Given the description of an element on the screen output the (x, y) to click on. 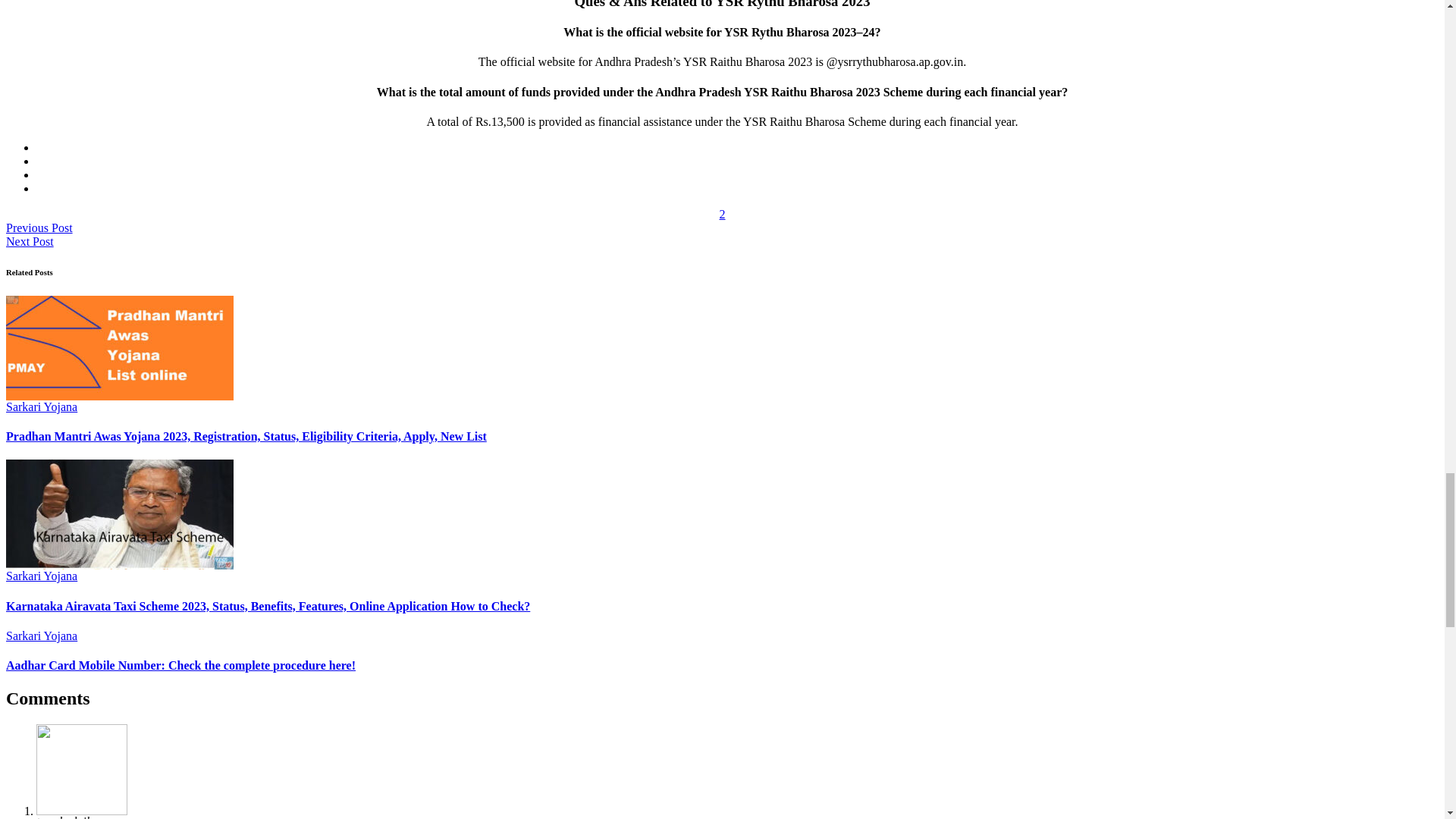
Sarkari Yojana (41, 575)
Next Post (29, 241)
Sarkari Yojana (41, 635)
Previous Post (38, 227)
